Given the description of an element on the screen output the (x, y) to click on. 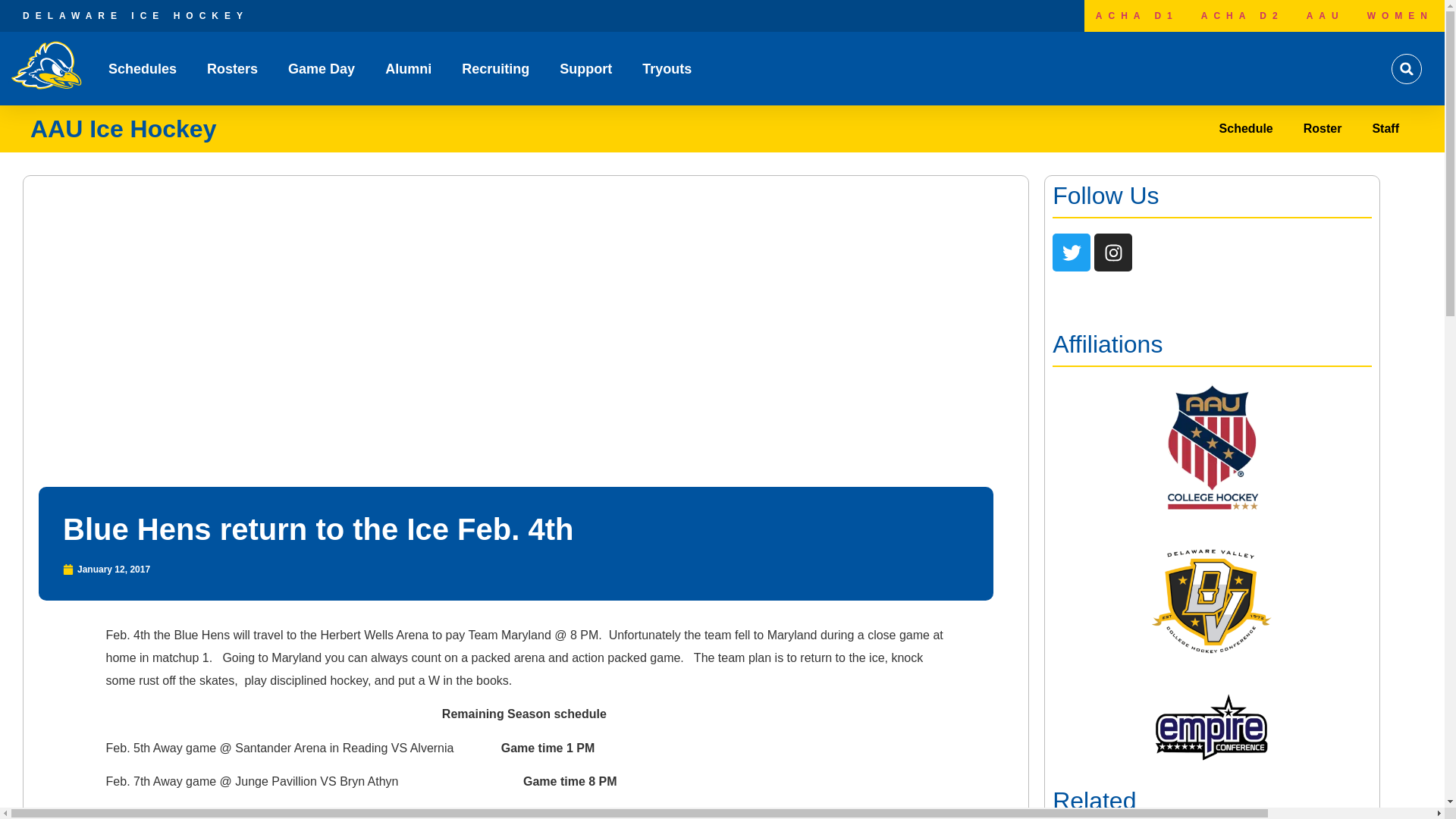
DELAWARE ICE HOCKEY (135, 15)
Tryouts (666, 68)
WOMEN (1399, 15)
Rosters (231, 68)
Recruiting (495, 68)
Schedules (141, 68)
AAU (1325, 15)
Game Day (321, 68)
ACHA D1 (1136, 15)
ACHA D2 (1242, 15)
